Given the description of an element on the screen output the (x, y) to click on. 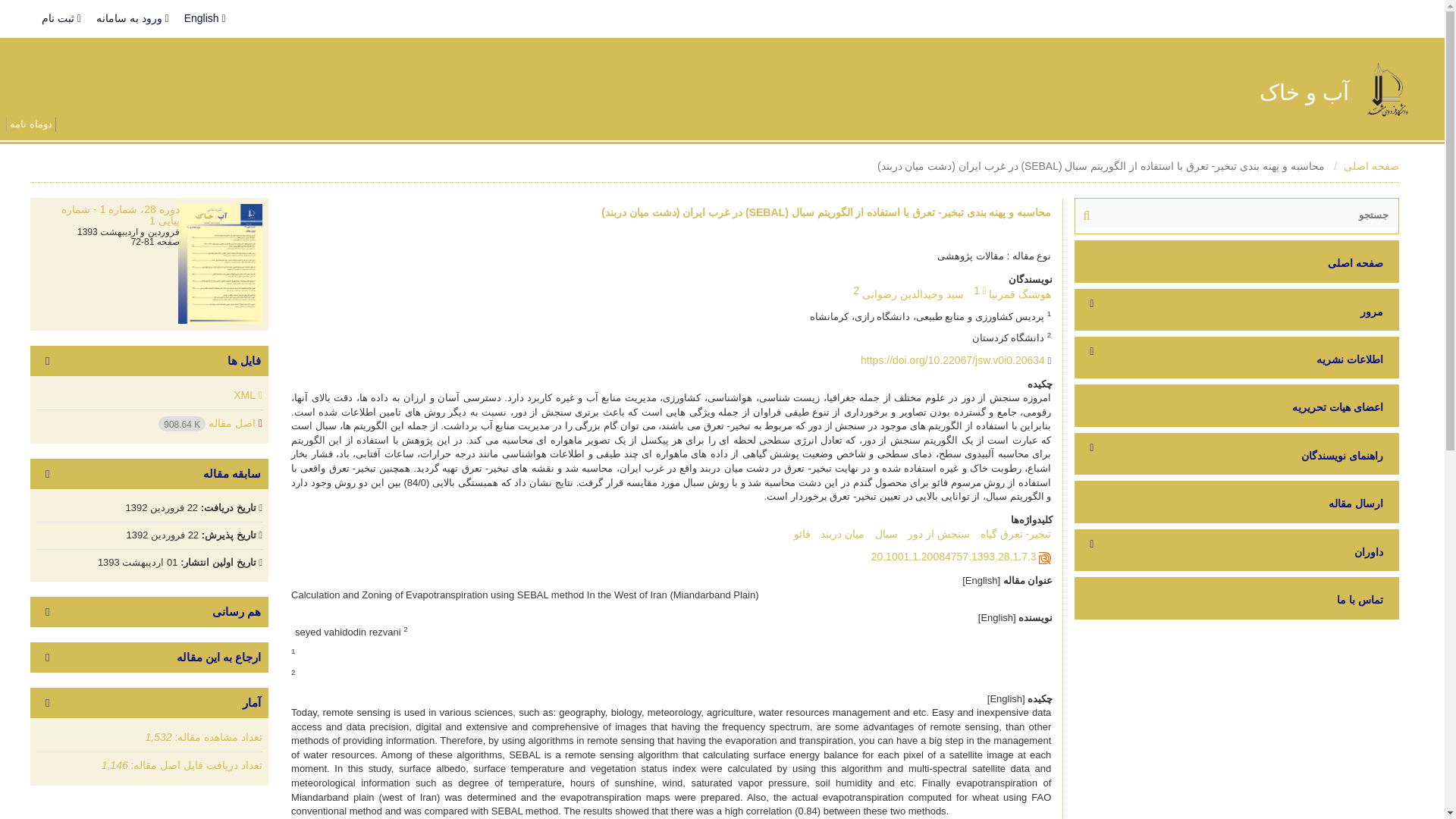
English (204, 18)
DOR (953, 556)
1 (976, 290)
